Given the description of an element on the screen output the (x, y) to click on. 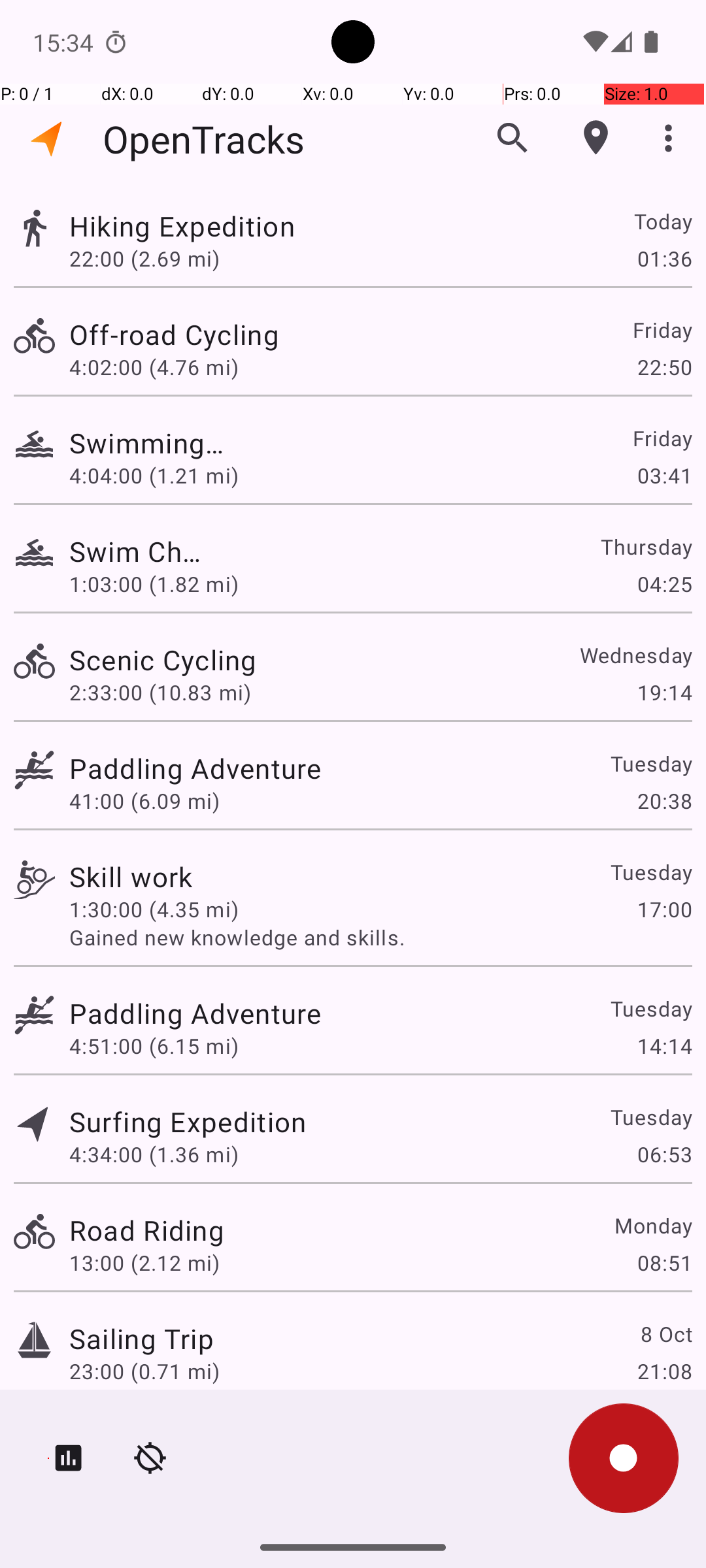
Hiking Expedition Element type: android.widget.TextView (194, 225)
22:00 (2.69 mi) Element type: android.widget.TextView (153, 258)
01:36 Element type: android.widget.TextView (664, 258)
Off-road Cycling Element type: android.widget.TextView (187, 333)
4:02:00 (4.76 mi) Element type: android.widget.TextView (153, 366)
22:50 Element type: android.widget.TextView (664, 366)
Swimming Excursion Element type: android.widget.TextView (146, 442)
4:04:00 (1.21 mi) Element type: android.widget.TextView (153, 475)
03:41 Element type: android.widget.TextView (664, 475)
Swim Challenge Element type: android.widget.TextView (141, 550)
1:03:00 (1.82 mi) Element type: android.widget.TextView (153, 583)
04:25 Element type: android.widget.TextView (664, 583)
2:33:00 (10.83 mi) Element type: android.widget.TextView (159, 692)
19:14 Element type: android.widget.TextView (664, 692)
Paddling Adventure Element type: android.widget.TextView (194, 767)
41:00 (6.09 mi) Element type: android.widget.TextView (144, 800)
20:38 Element type: android.widget.TextView (664, 800)
Skill work Element type: android.widget.TextView (130, 876)
1:30:00 (4.35 mi) Element type: android.widget.TextView (153, 909)
Gained new knowledge and skills. Element type: android.widget.TextView (380, 937)
4:51:00 (6.15 mi) Element type: android.widget.TextView (153, 1045)
14:14 Element type: android.widget.TextView (664, 1045)
Surfing Expedition Element type: android.widget.TextView (187, 1121)
4:34:00 (1.36 mi) Element type: android.widget.TextView (153, 1154)
06:53 Element type: android.widget.TextView (664, 1154)
Road Riding Element type: android.widget.TextView (146, 1229)
13:00 (2.12 mi) Element type: android.widget.TextView (144, 1262)
08:51 Element type: android.widget.TextView (664, 1262)
Sailing Trip Element type: android.widget.TextView (141, 1337)
23:00 (0.71 mi) Element type: android.widget.TextView (144, 1370)
21:08 Element type: android.widget.TextView (664, 1370)
